Given the description of an element on the screen output the (x, y) to click on. 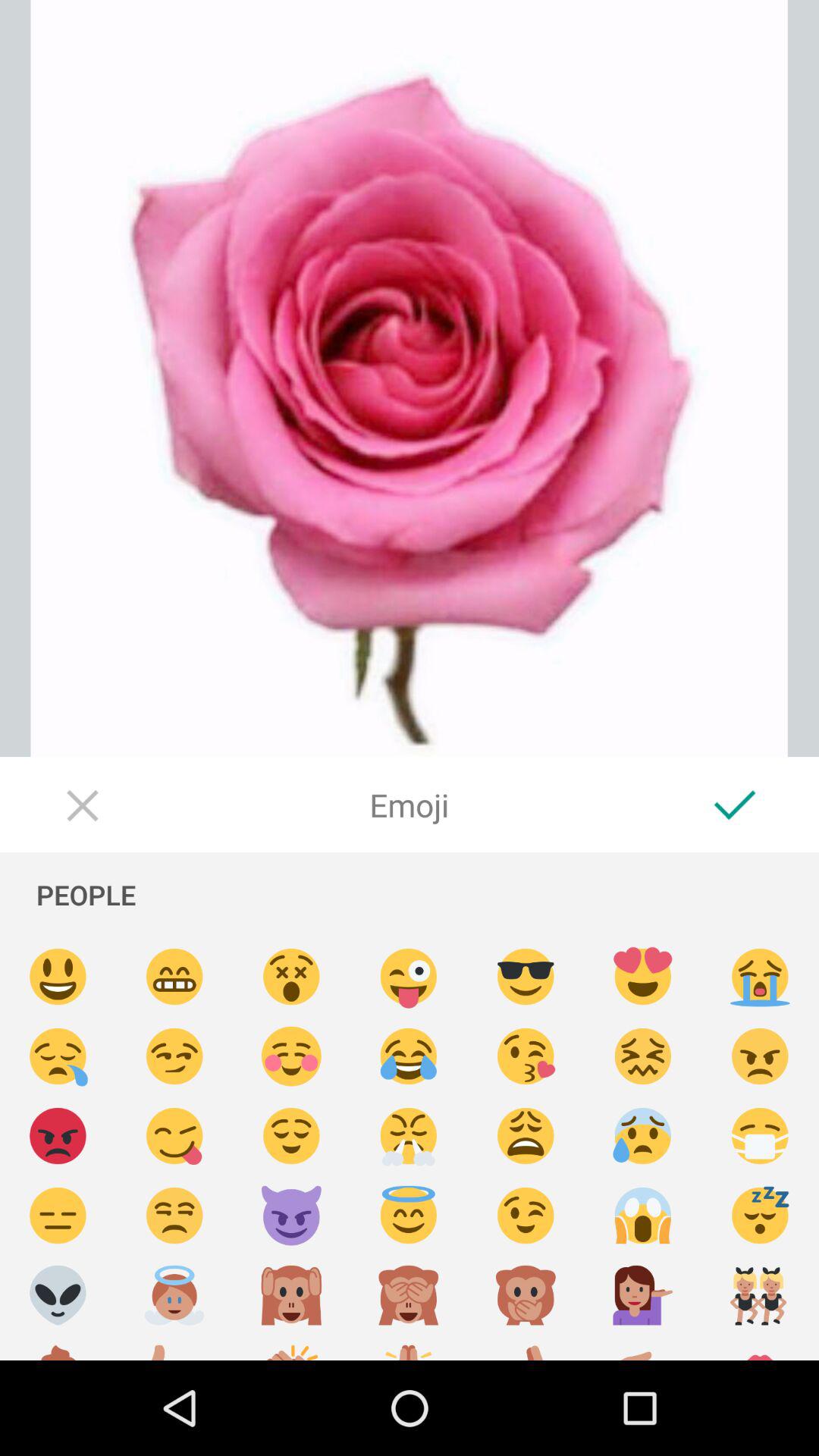
happy emoji (291, 1136)
